Given the description of an element on the screen output the (x, y) to click on. 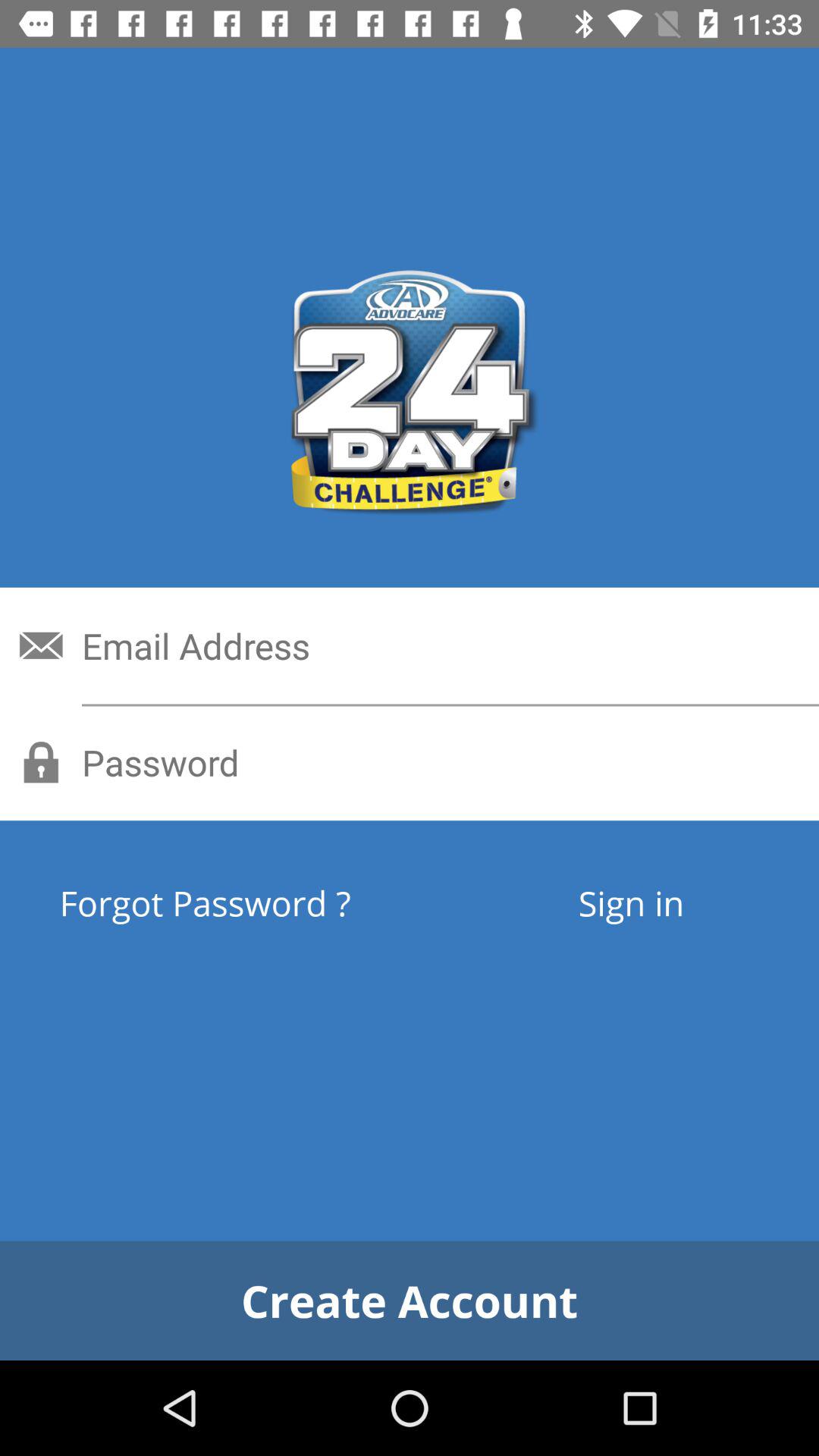
swipe until create account icon (409, 1300)
